Given the description of an element on the screen output the (x, y) to click on. 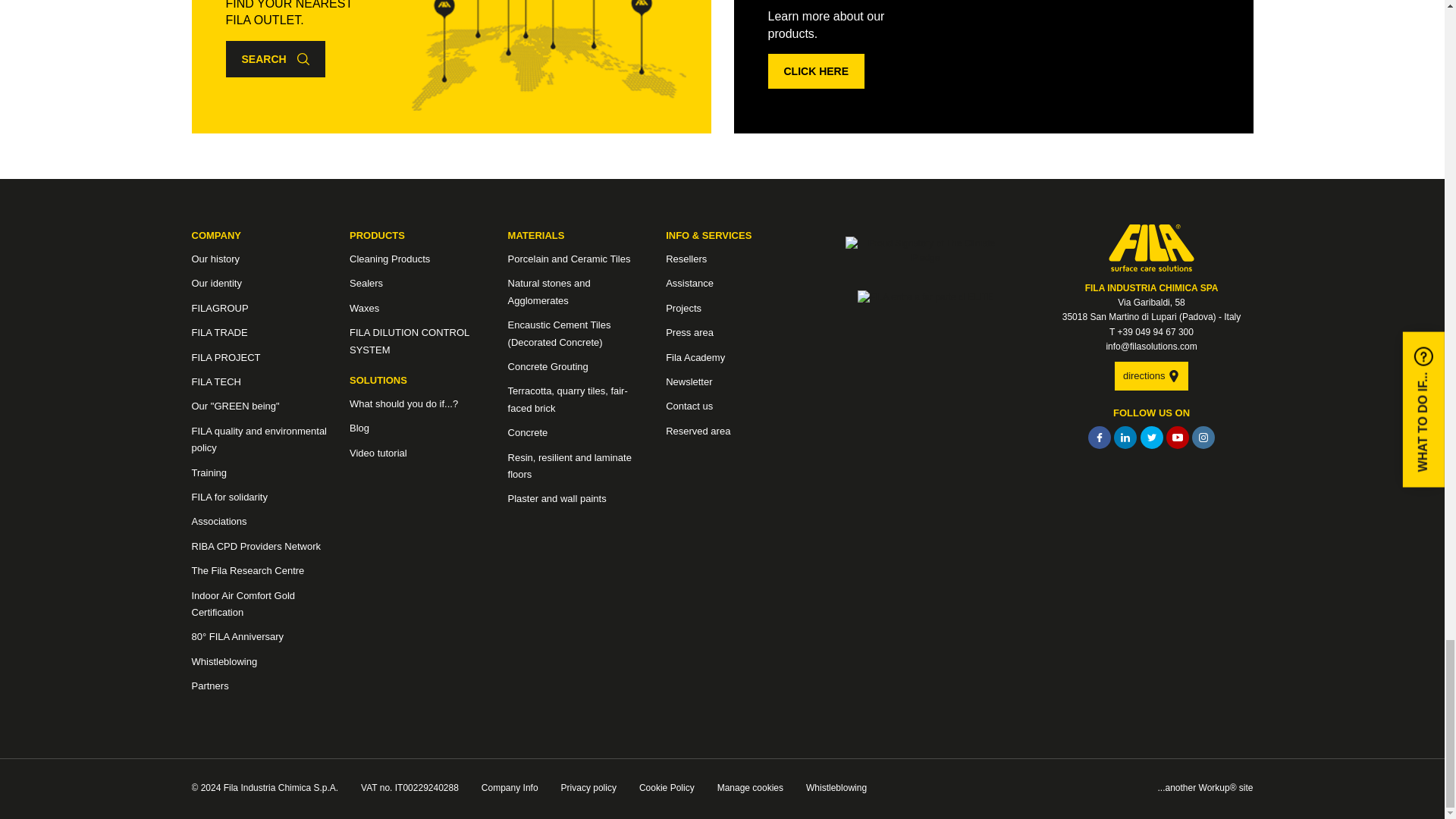
instagram (1203, 436)
twitter (1151, 436)
youtube (1177, 436)
linkedin (1125, 436)
facebook (1098, 436)
